Given the description of an element on the screen output the (x, y) to click on. 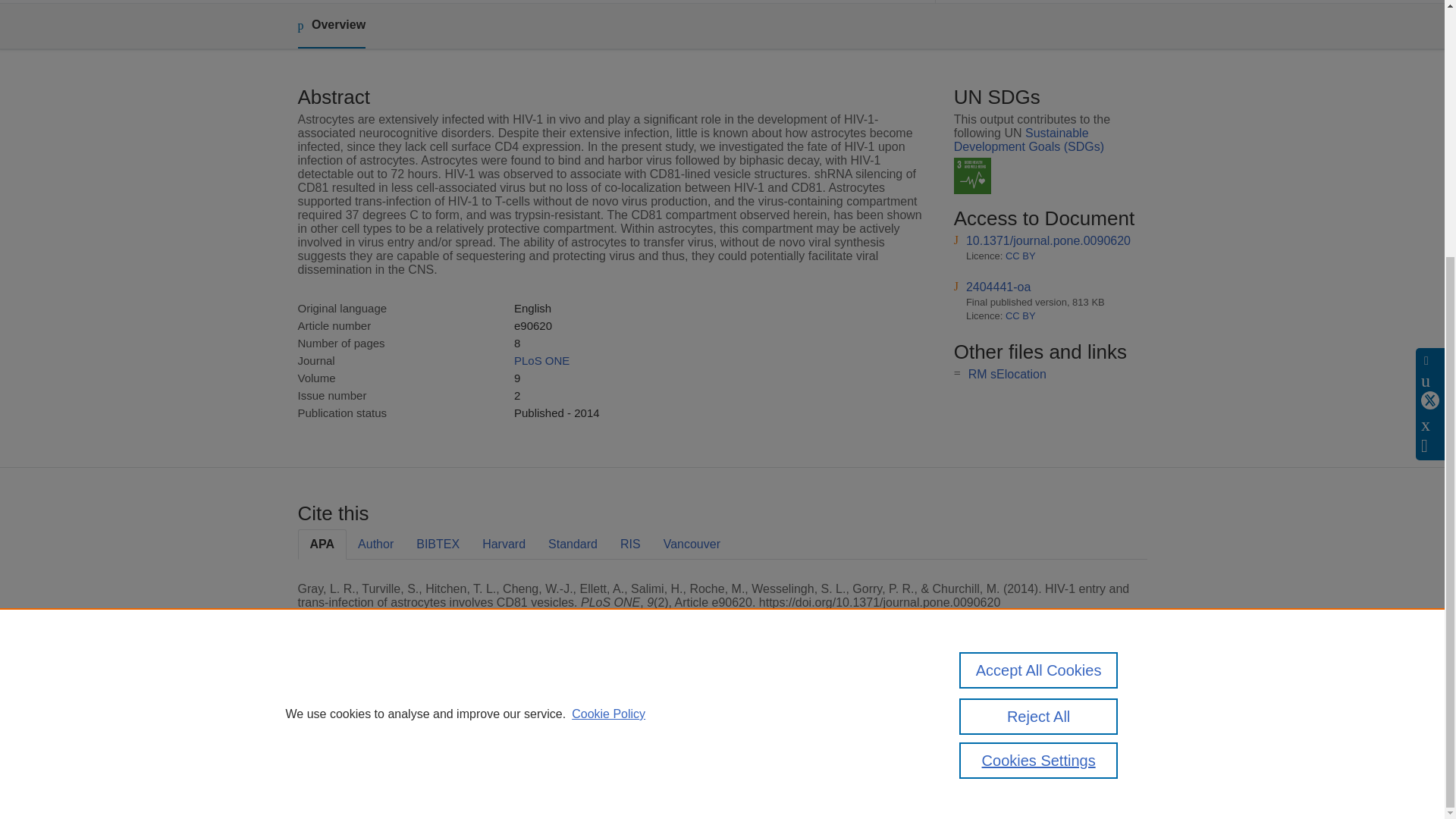
use of cookies (796, 760)
RM sElocation (1007, 373)
Cookies Settings (334, 781)
Scopus (394, 708)
2404441-oa (998, 286)
PLoS ONE (541, 359)
Pure (362, 708)
Elsevier B.V. (506, 728)
Overview (331, 26)
CC BY (1020, 255)
